Given the description of an element on the screen output the (x, y) to click on. 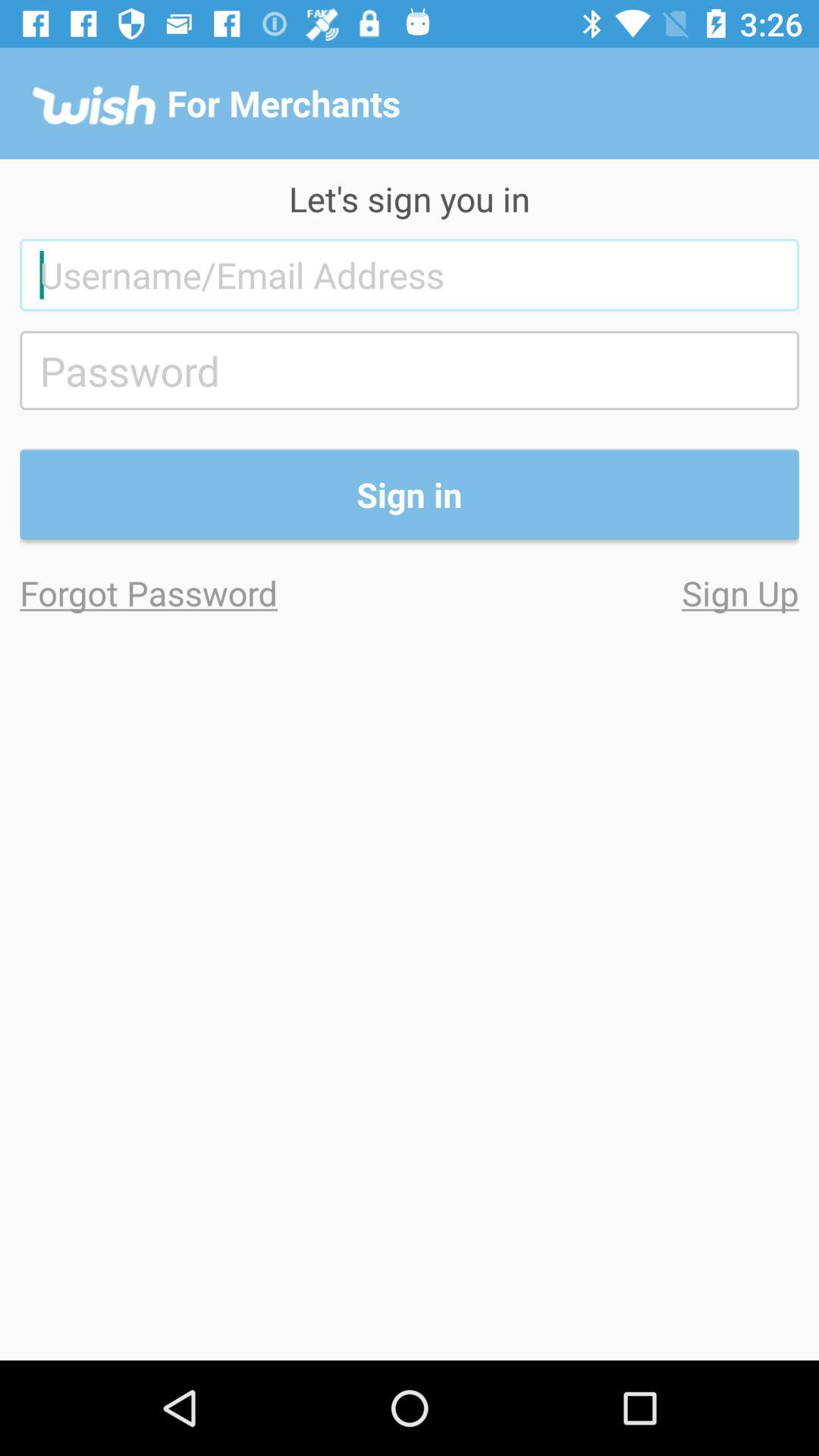
turn off sign up (604, 592)
